Given the description of an element on the screen output the (x, y) to click on. 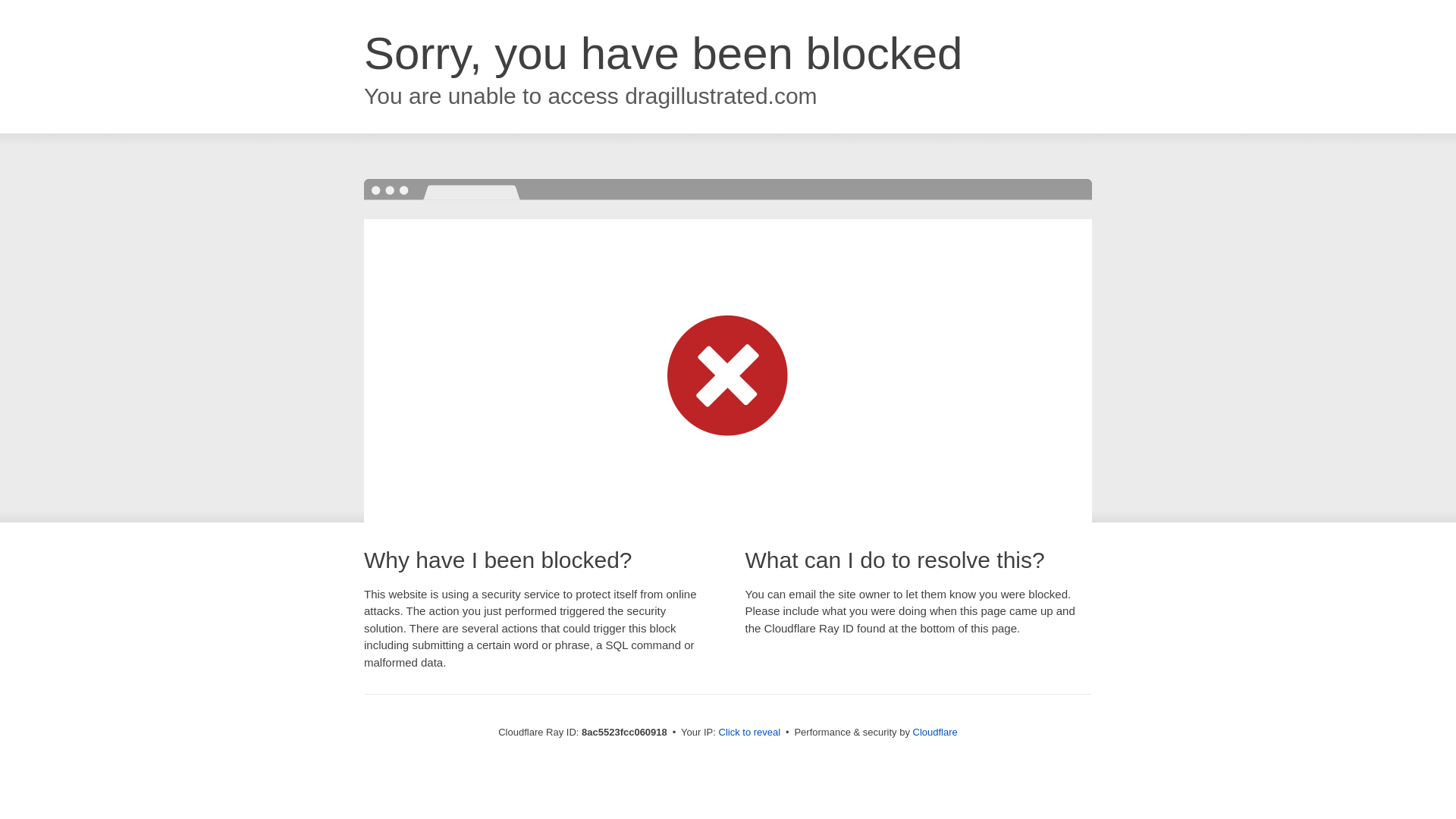
Click to reveal (749, 732)
Cloudflare (935, 731)
